Given the description of an element on the screen output the (x, y) to click on. 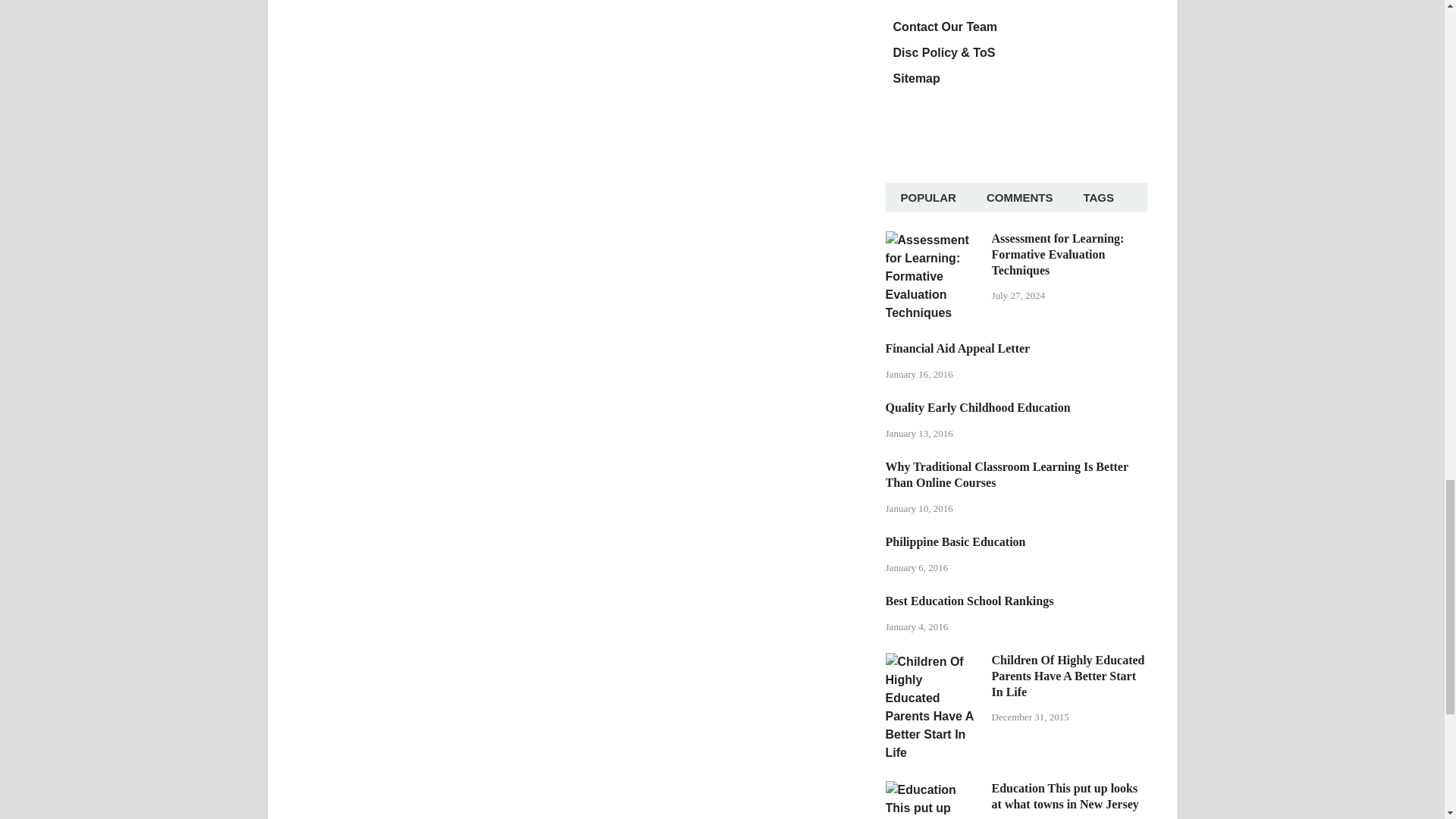
Education This put up looks at what towns in New Jersey (932, 789)
Assessment for Learning: Formative Evaluation Techniques (932, 239)
